Given the description of an element on the screen output the (x, y) to click on. 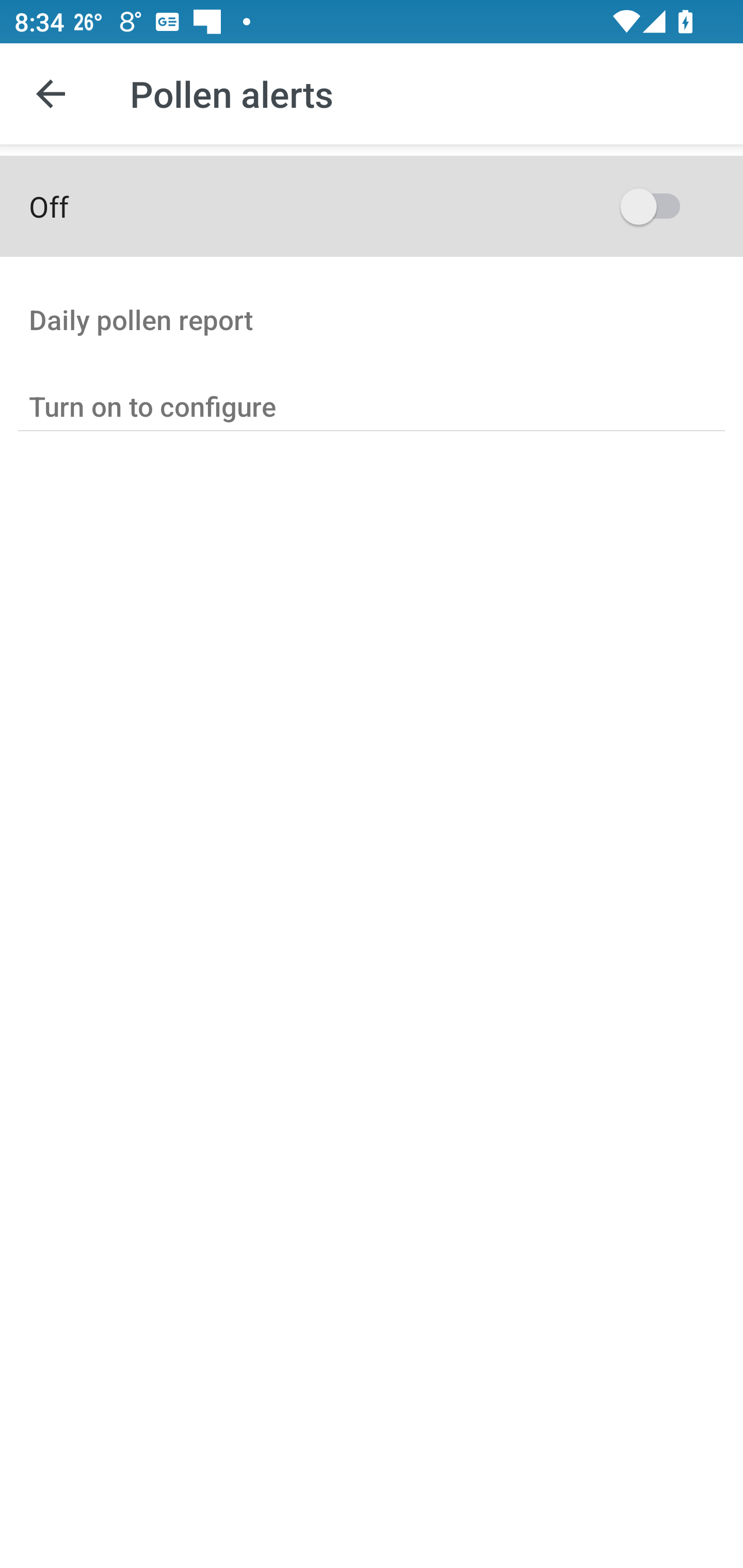
Navigate up (50, 93)
Off (371, 206)
